Given the description of an element on the screen output the (x, y) to click on. 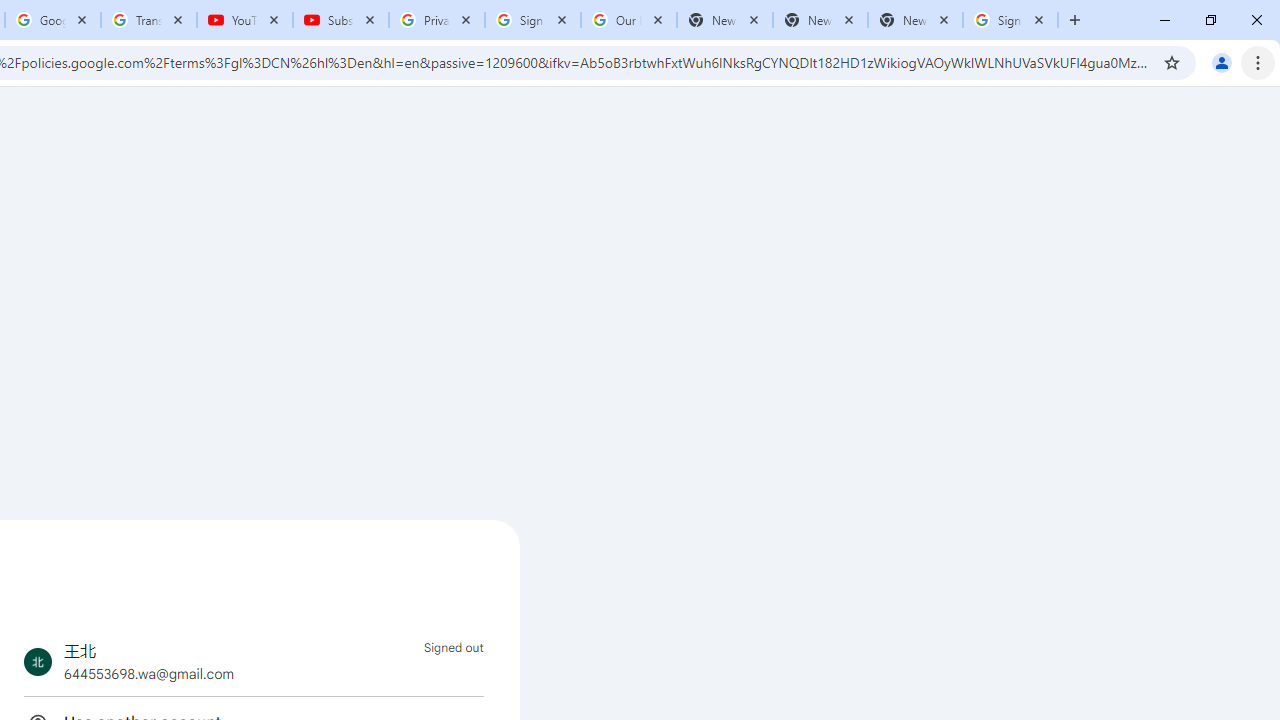
Subscriptions - YouTube (341, 20)
YouTube (245, 20)
